Given the description of an element on the screen output the (x, y) to click on. 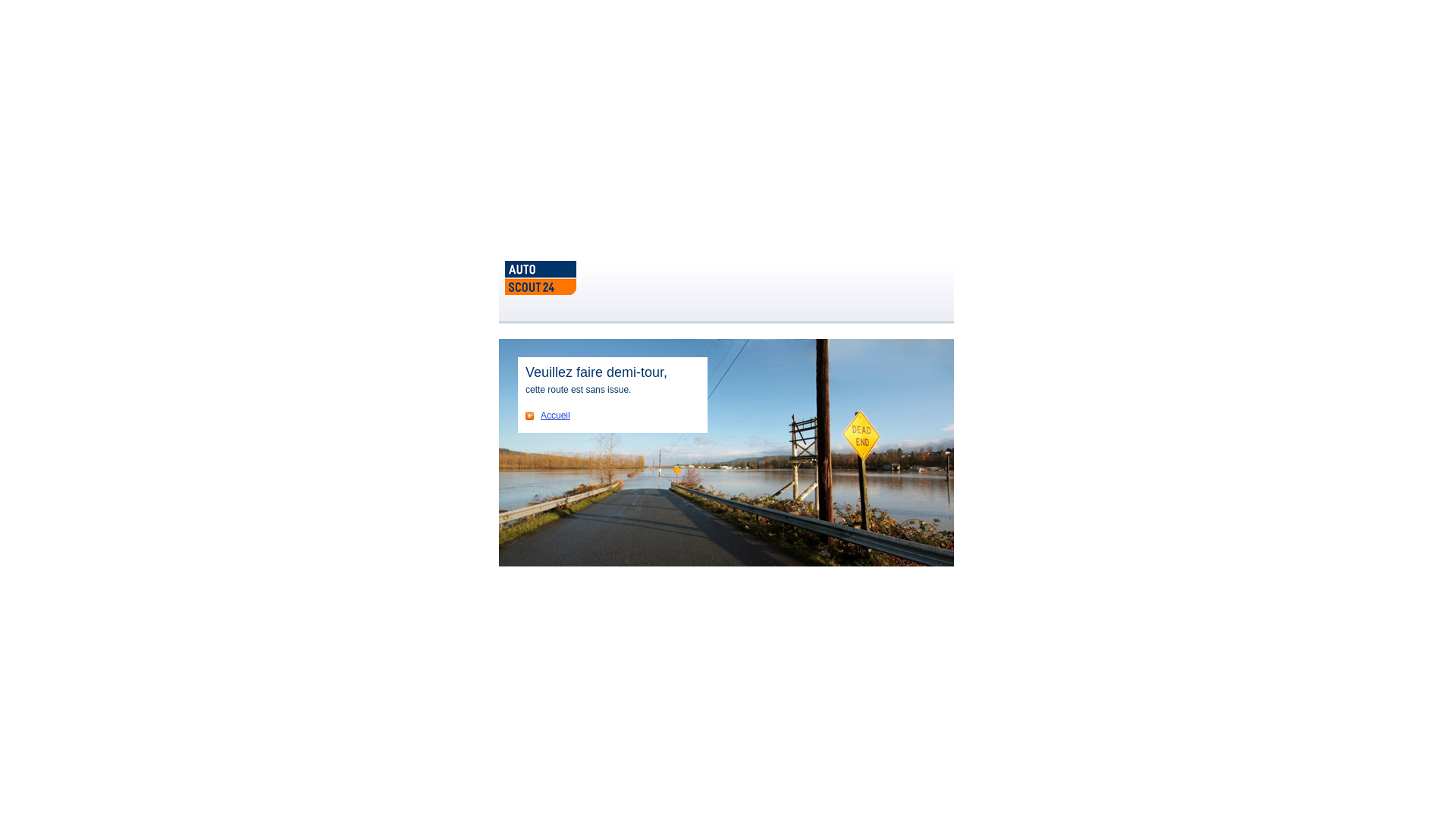
Accueil Element type: text (547, 415)
